Given the description of an element on the screen output the (x, y) to click on. 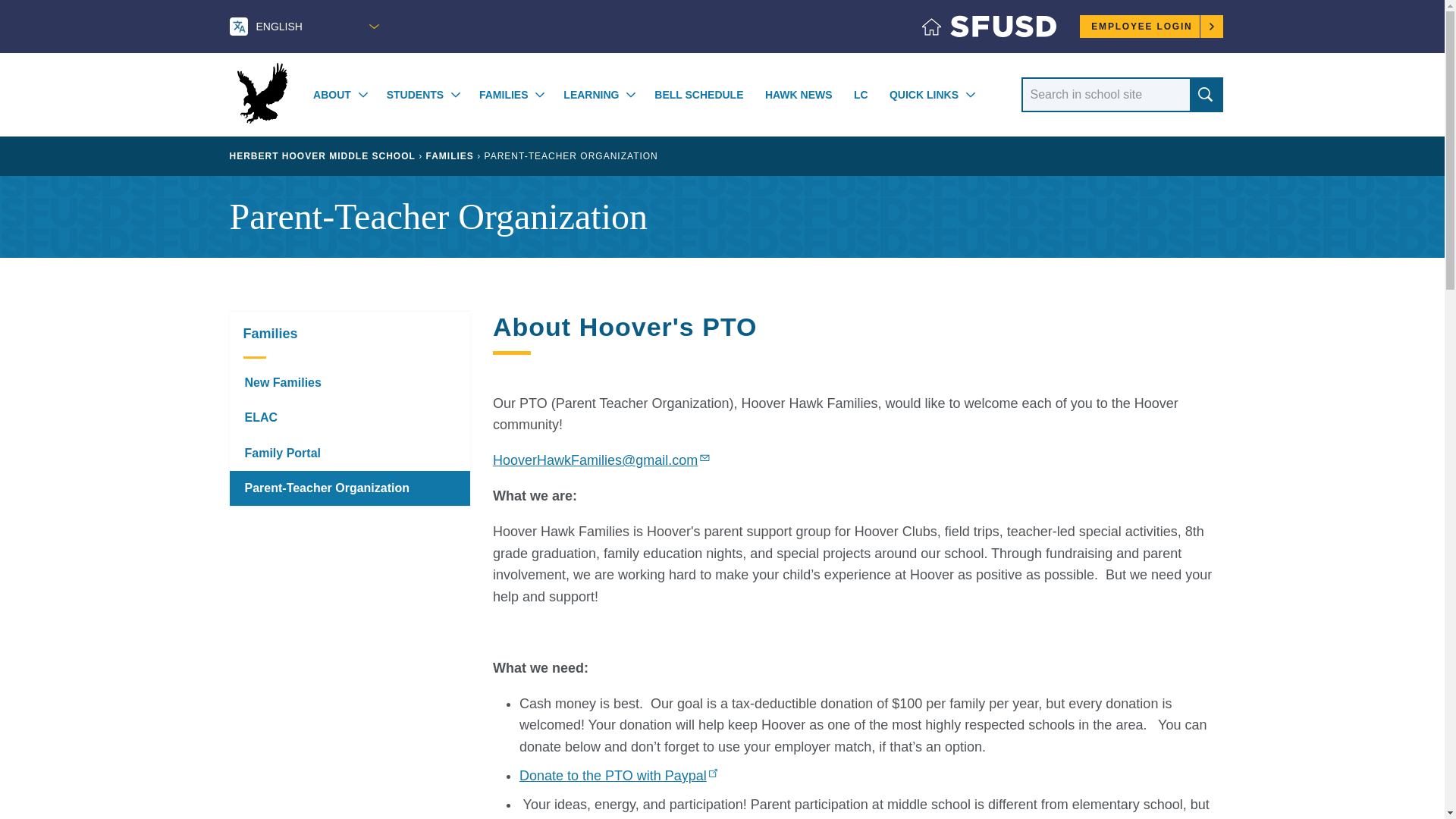
EMPLOYEE LOGIN (1151, 26)
Information for incoming Fall 2023 families. (349, 382)
Here are some resources for our families. (349, 334)
QUICK LINKS (923, 94)
TOGGLE SUBMENU (455, 95)
Search (1205, 94)
Home (989, 30)
TOGGLE SUBMENU (631, 95)
HAWK NEWS (798, 94)
How to participate in Hoover's PTO (349, 488)
ABOUT (331, 94)
TOGGLE SUBMENU (970, 95)
TOGGLE SUBMENU (539, 95)
FAMILIES (503, 94)
LEARNING (591, 94)
